Given the description of an element on the screen output the (x, y) to click on. 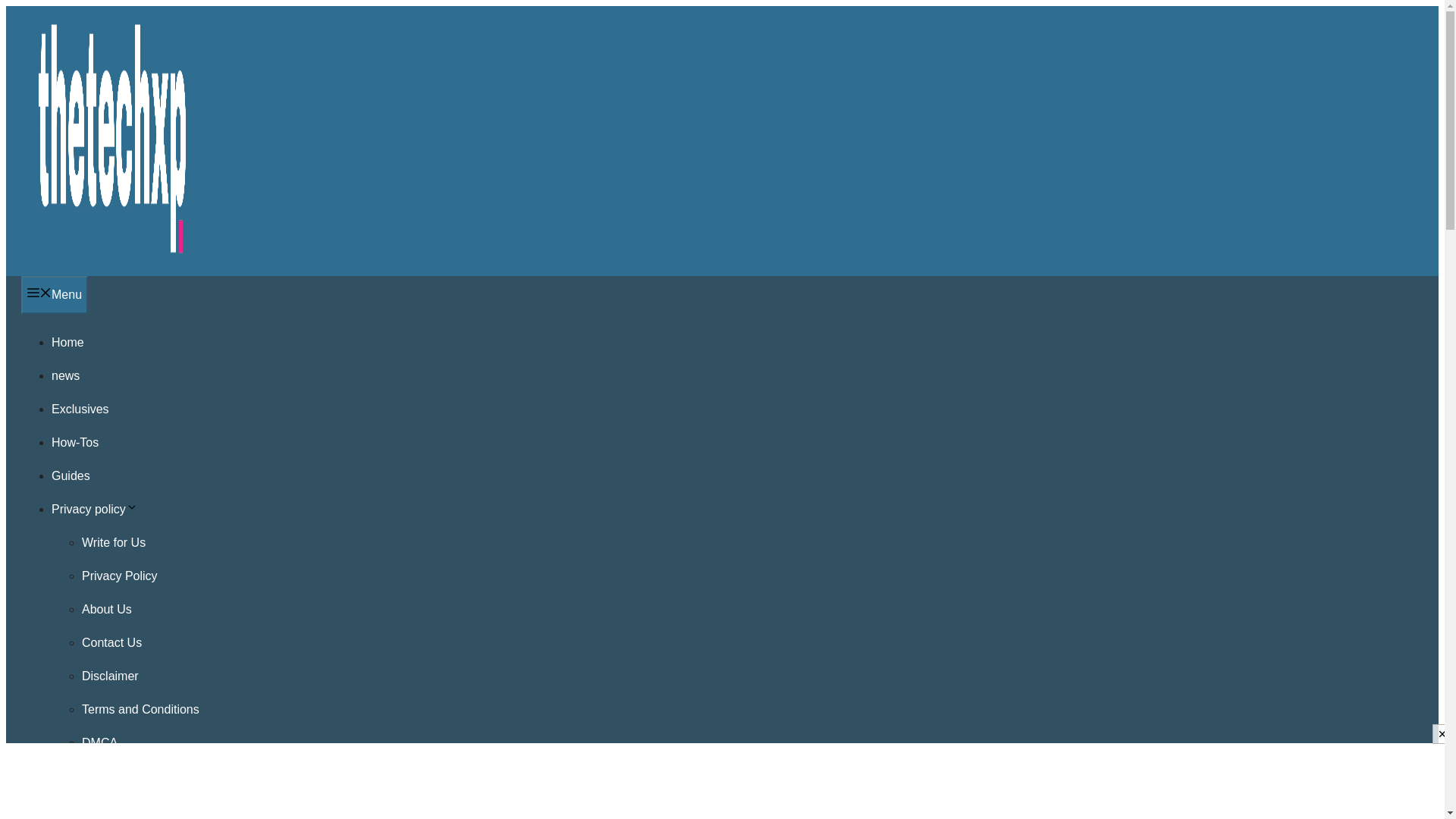
Disclaimer (109, 675)
TheTechXP (111, 260)
Home (67, 341)
About Us (106, 608)
Write for Us (113, 542)
How-Tos (74, 441)
Sitemaps (106, 775)
Guides (70, 475)
news (65, 375)
Privacy Policy (119, 575)
Comment Policy (125, 809)
Menu (54, 294)
Contact Us (111, 642)
